Given the description of an element on the screen output the (x, y) to click on. 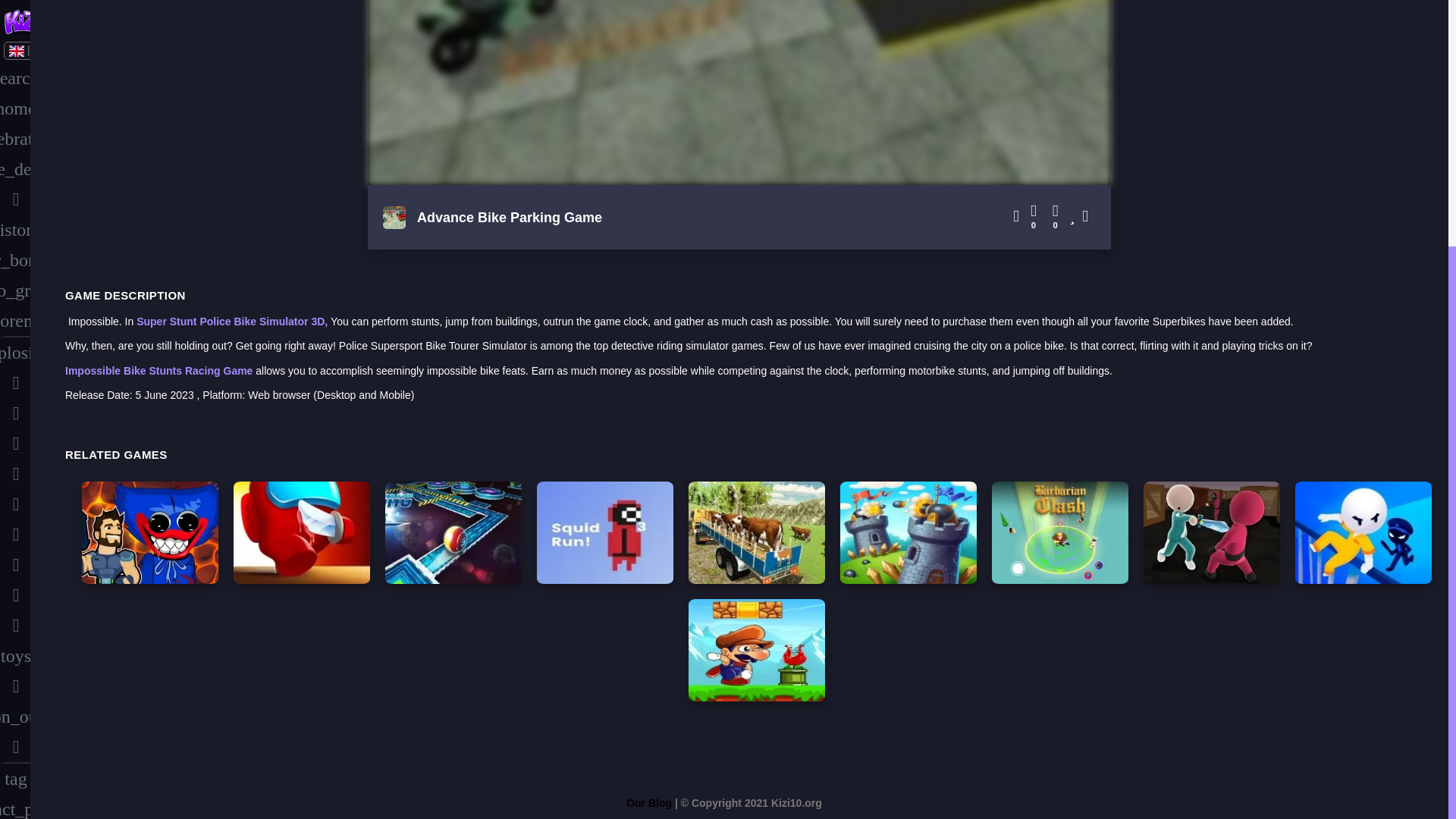
Here is our blog for gaming (648, 802)
explosion (15, 7)
toys (15, 304)
policy (15, 517)
tag (15, 426)
